Given the description of an element on the screen output the (x, y) to click on. 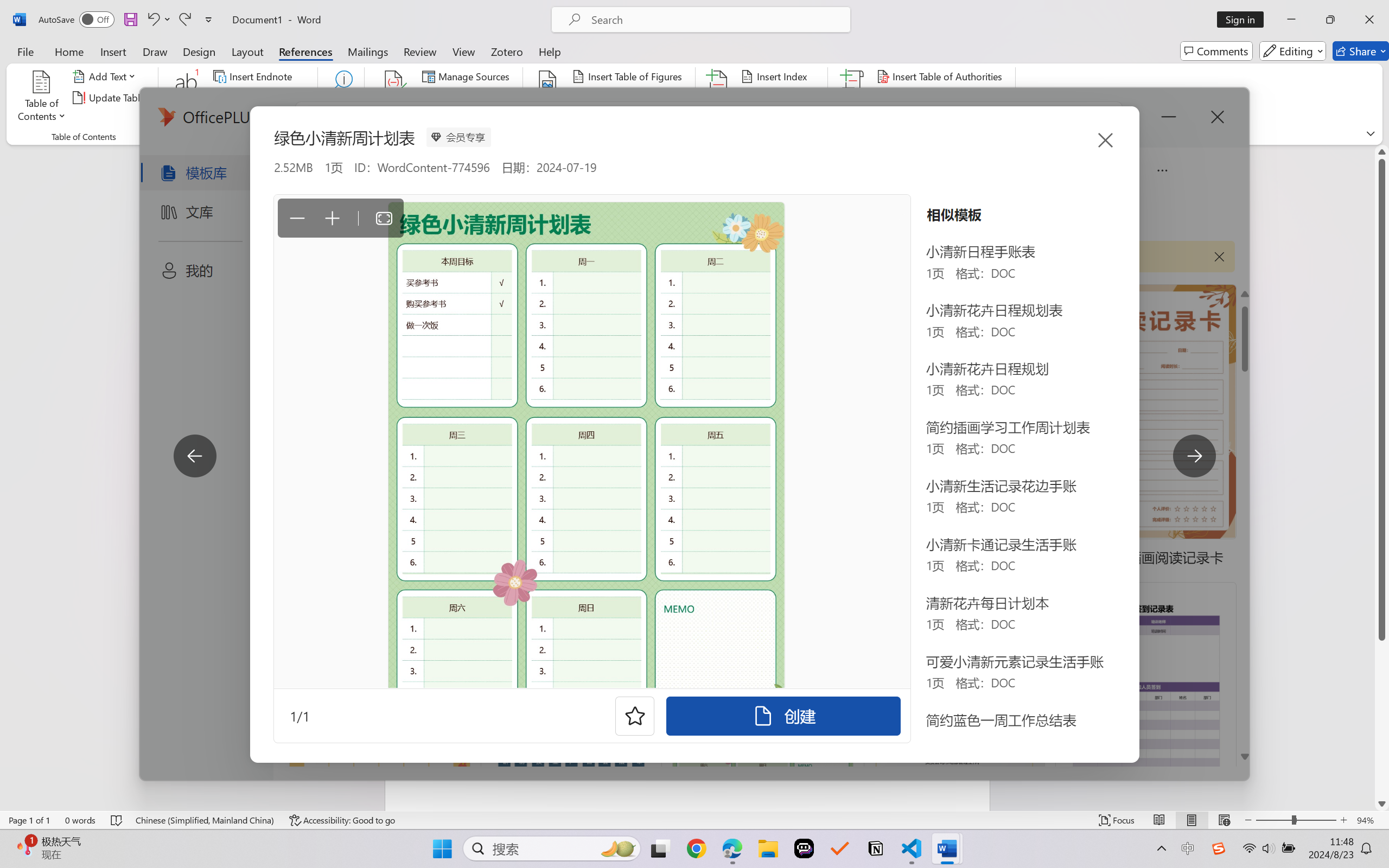
Undo Apply Quick Style Set (152, 19)
Update Table... (110, 97)
Update Index (778, 97)
Insert Endnote (253, 75)
Search (341, 97)
Style (483, 96)
